Given the description of an element on the screen output the (x, y) to click on. 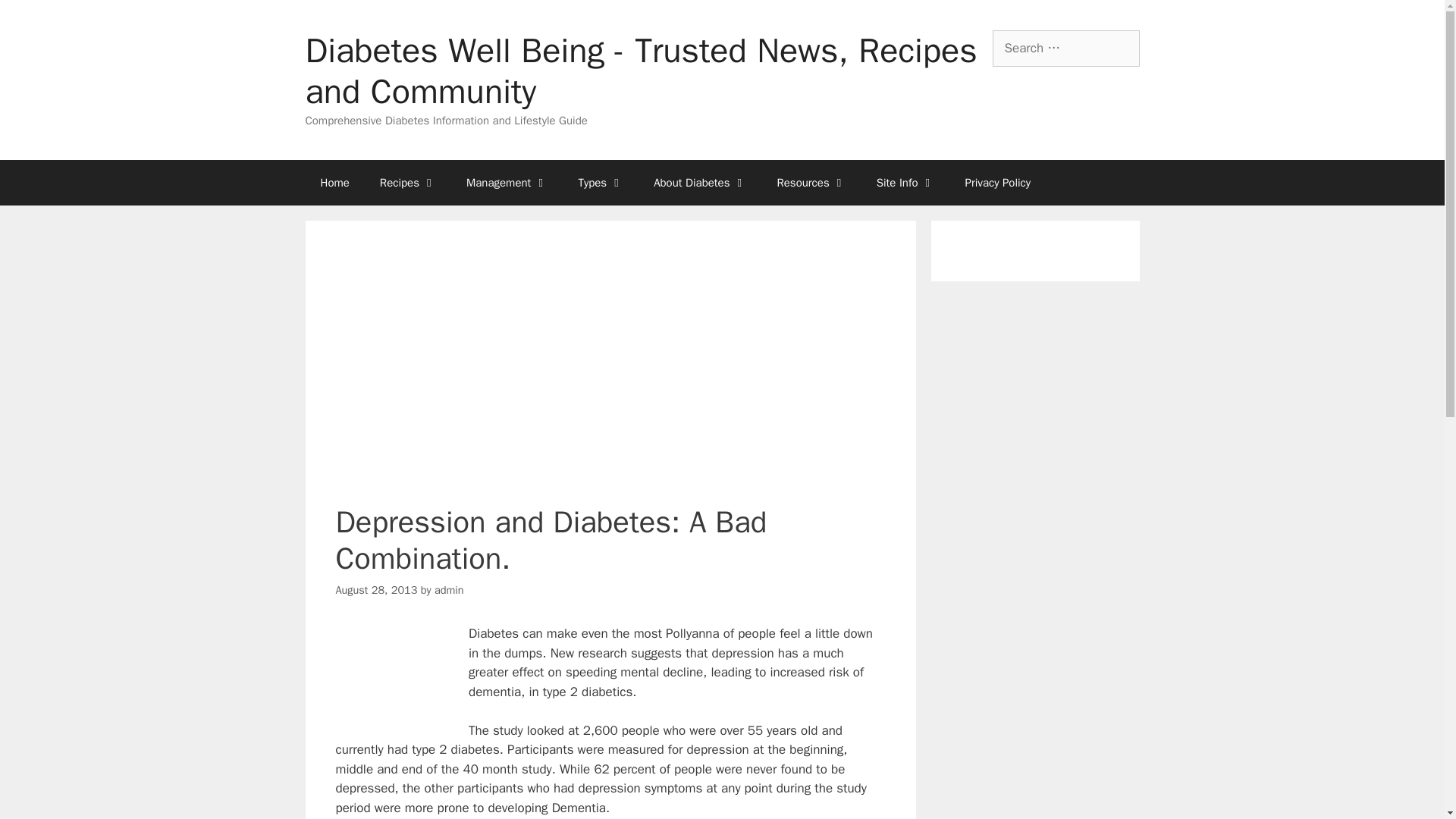
About Diabetes (700, 181)
Search (35, 18)
Home (334, 181)
Search for: (1064, 48)
Types (600, 181)
View all posts by admin (448, 590)
Diabetes Well Being - Trusted News, Recipes and Community (640, 71)
Management (506, 181)
Recipes (408, 181)
